Given the description of an element on the screen output the (x, y) to click on. 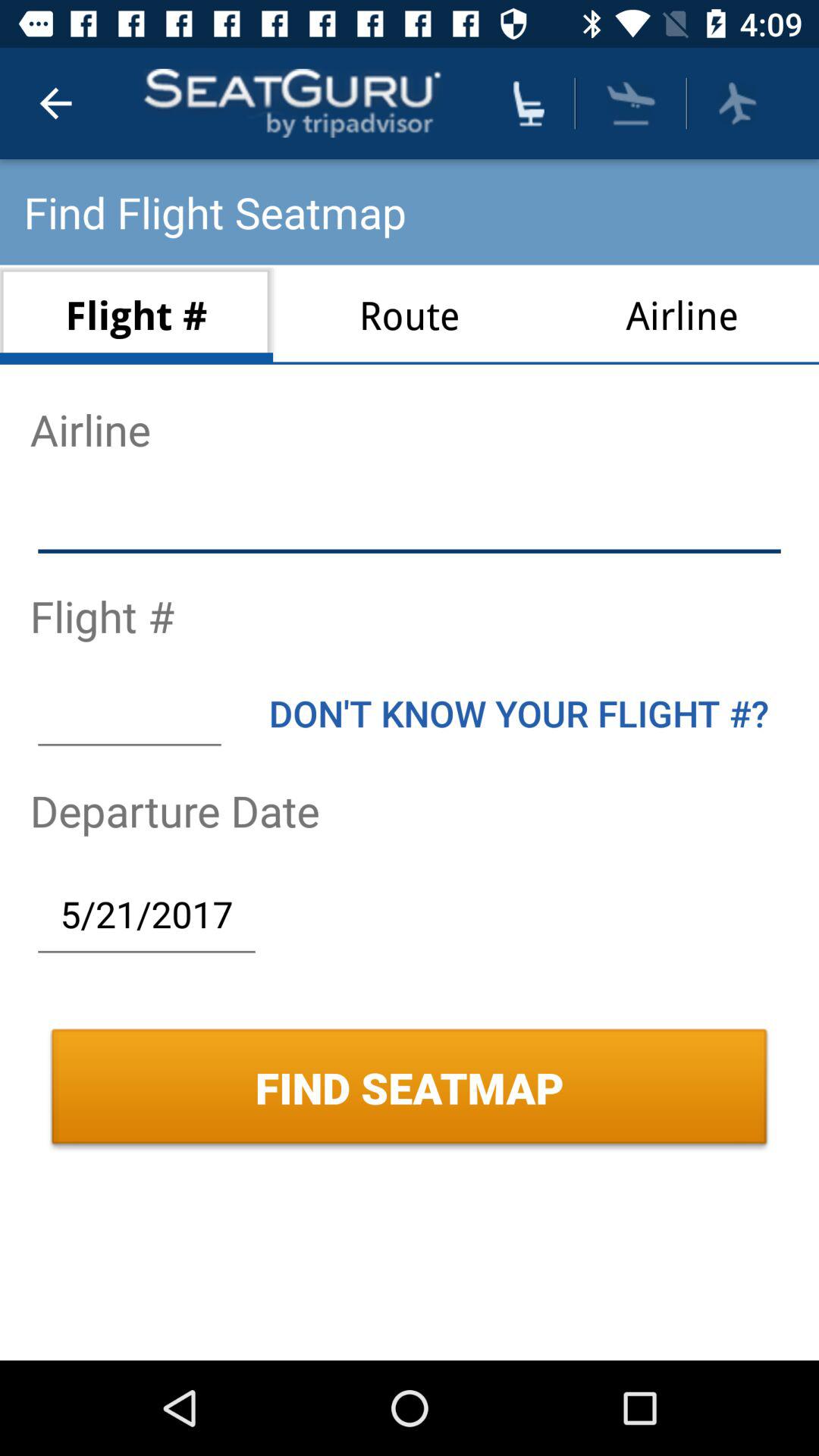
enter number (129, 712)
